Given the description of an element on the screen output the (x, y) to click on. 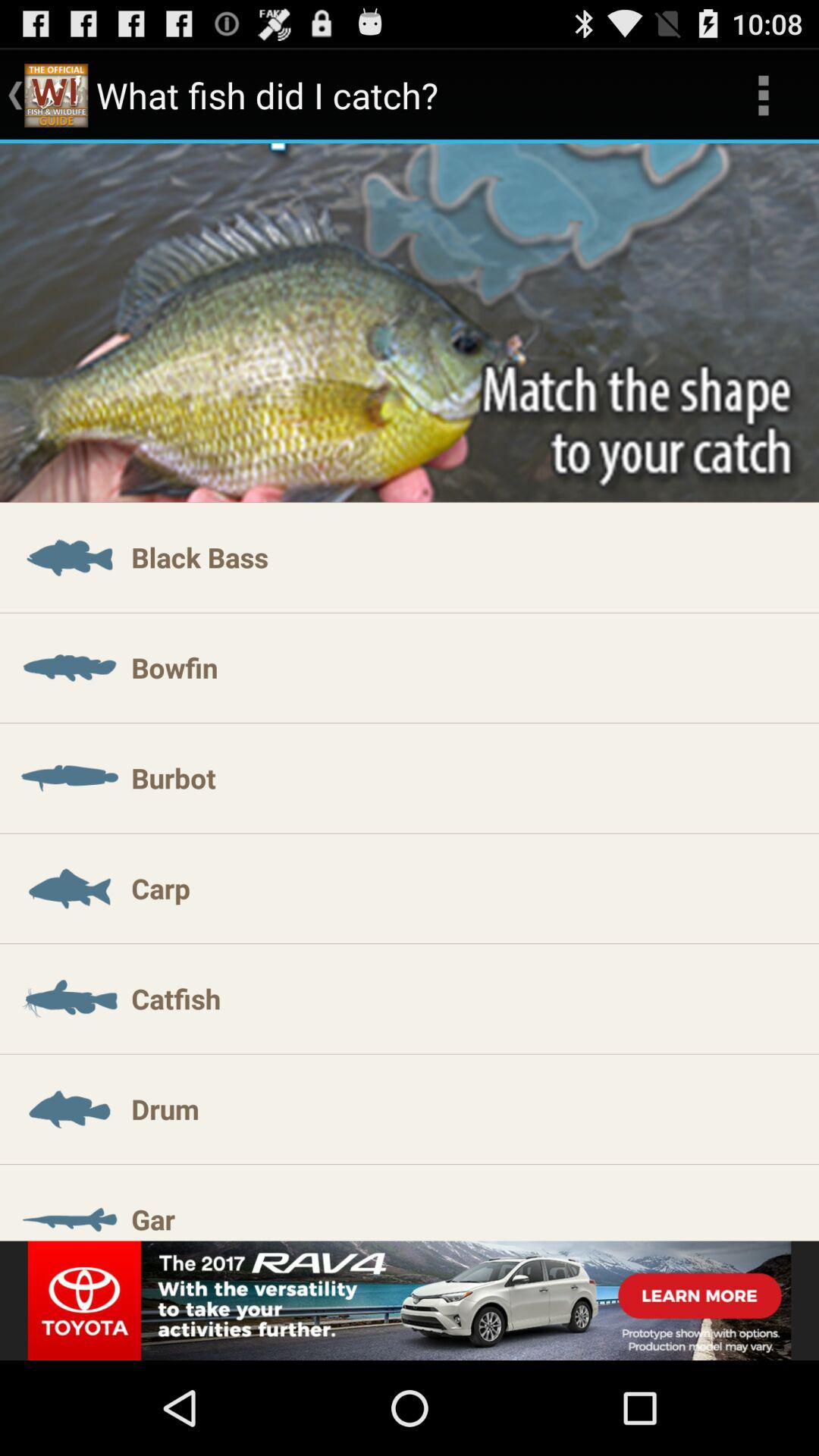
open advertisement (409, 1300)
